Given the description of an element on the screen output the (x, y) to click on. 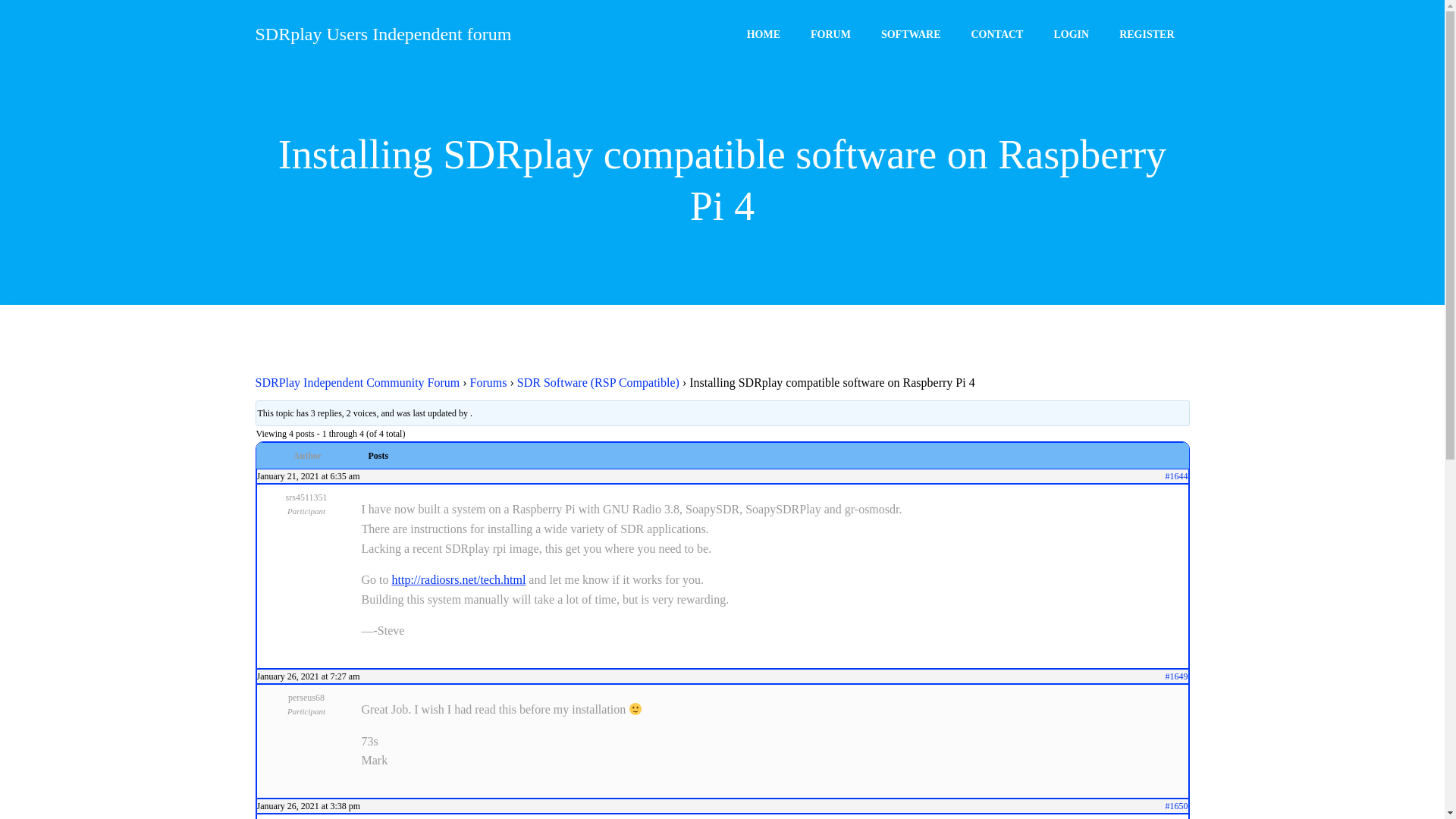
ColibriWP Theme (892, 773)
LOGIN (1070, 32)
Forums (488, 382)
HOME (763, 30)
FORUM (830, 30)
SOFTWARE (910, 31)
SDRPlay Independent Community Forum (357, 382)
SDRplay Users Independent forum (382, 35)
REGISTER (1146, 33)
CONTACT (997, 32)
